Given the description of an element on the screen output the (x, y) to click on. 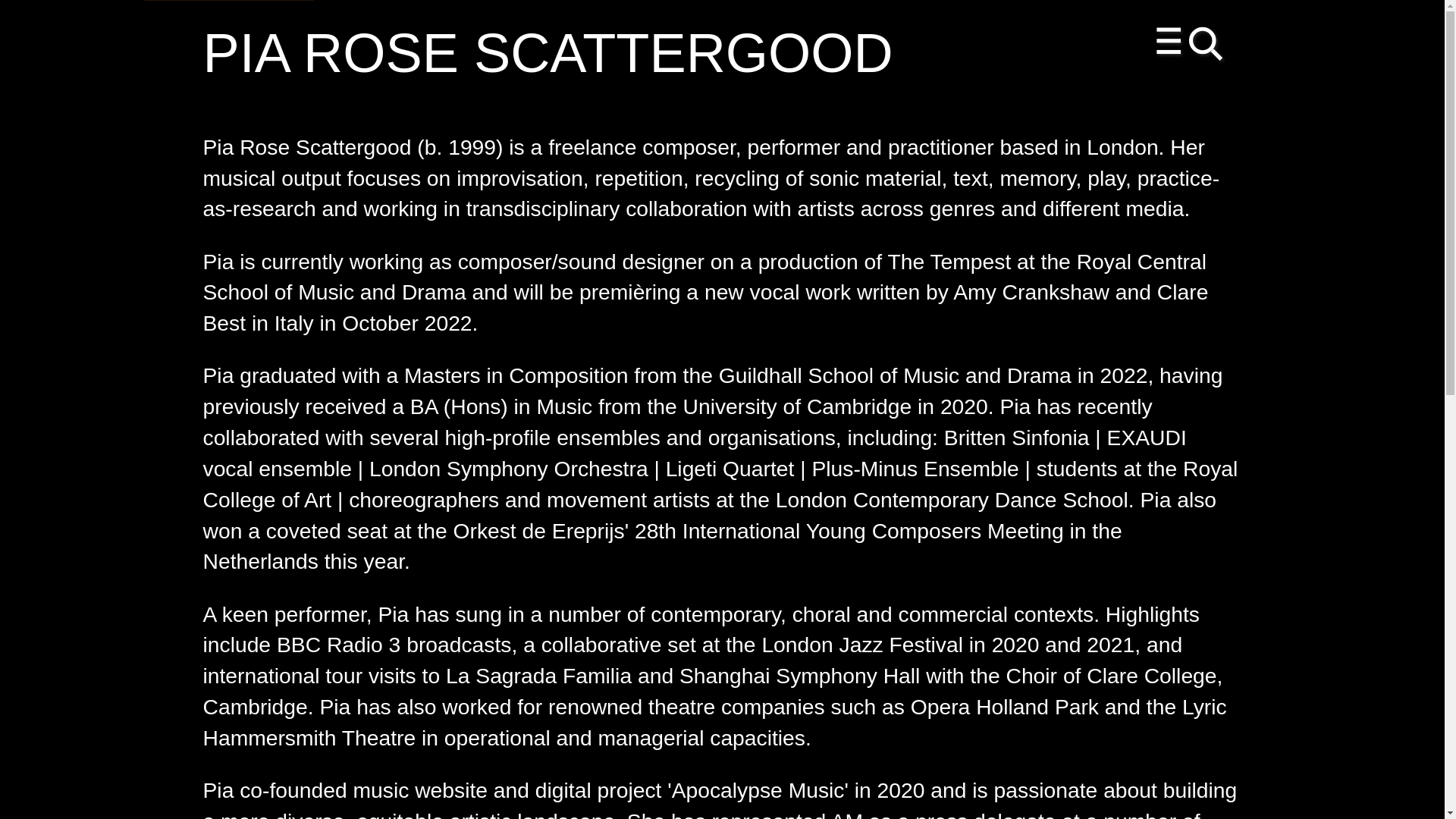
Menu and Search (1190, 45)
